Given the description of an element on the screen output the (x, y) to click on. 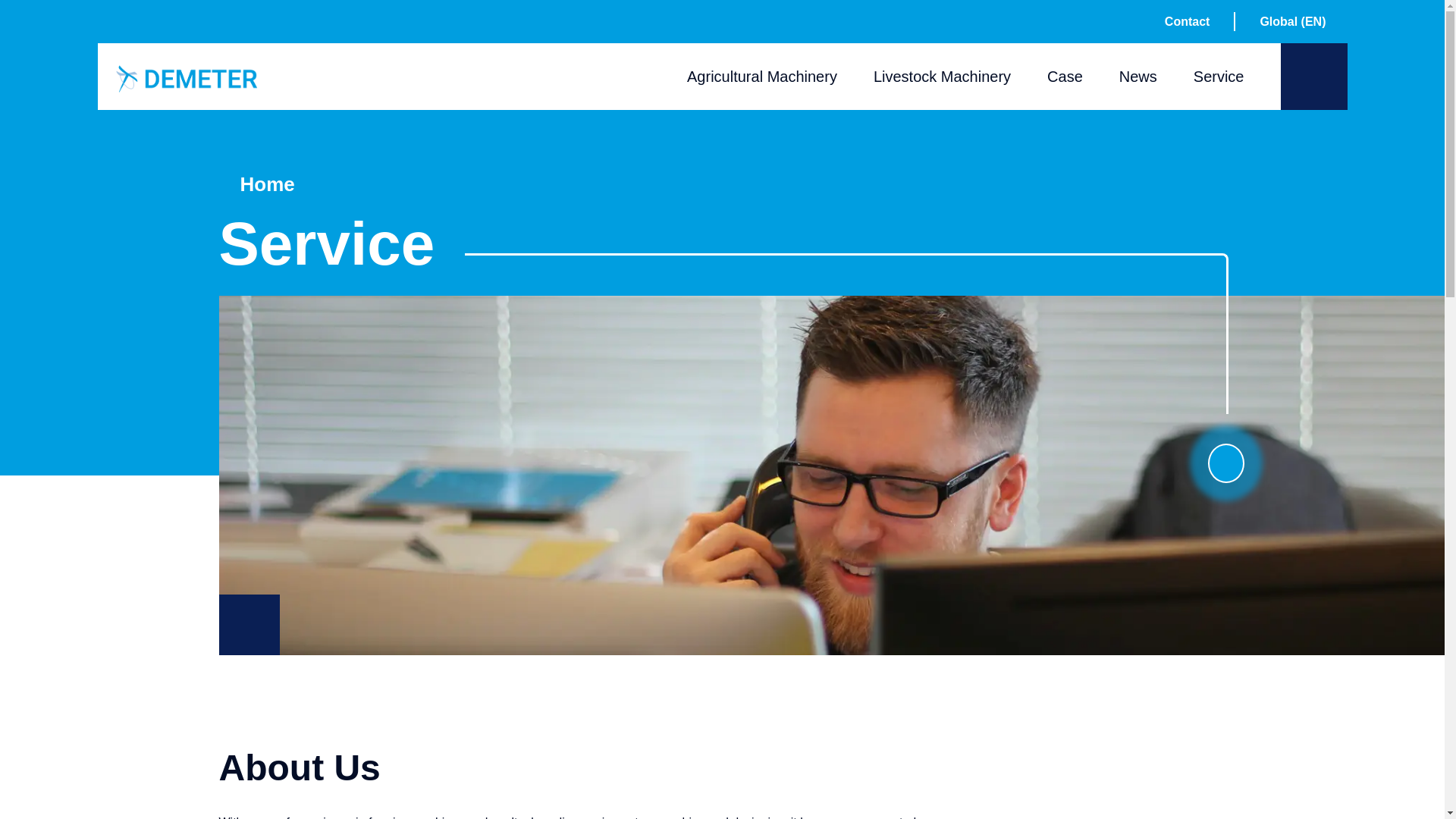
Contact Us (1312, 76)
Home (187, 78)
Contact (1186, 21)
